Given the description of an element on the screen output the (x, y) to click on. 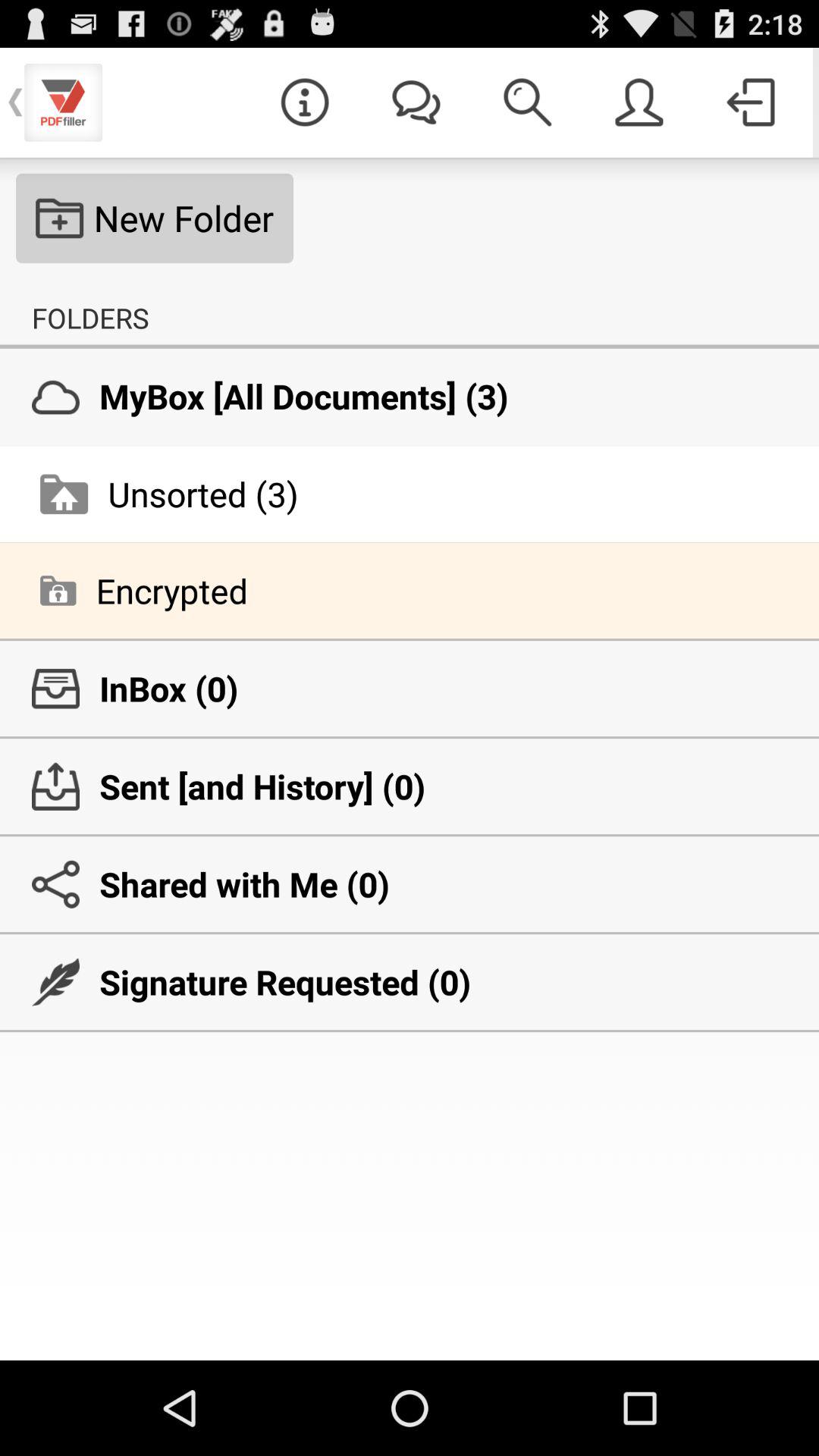
jump until the new folder icon (154, 218)
